Given the description of an element on the screen output the (x, y) to click on. 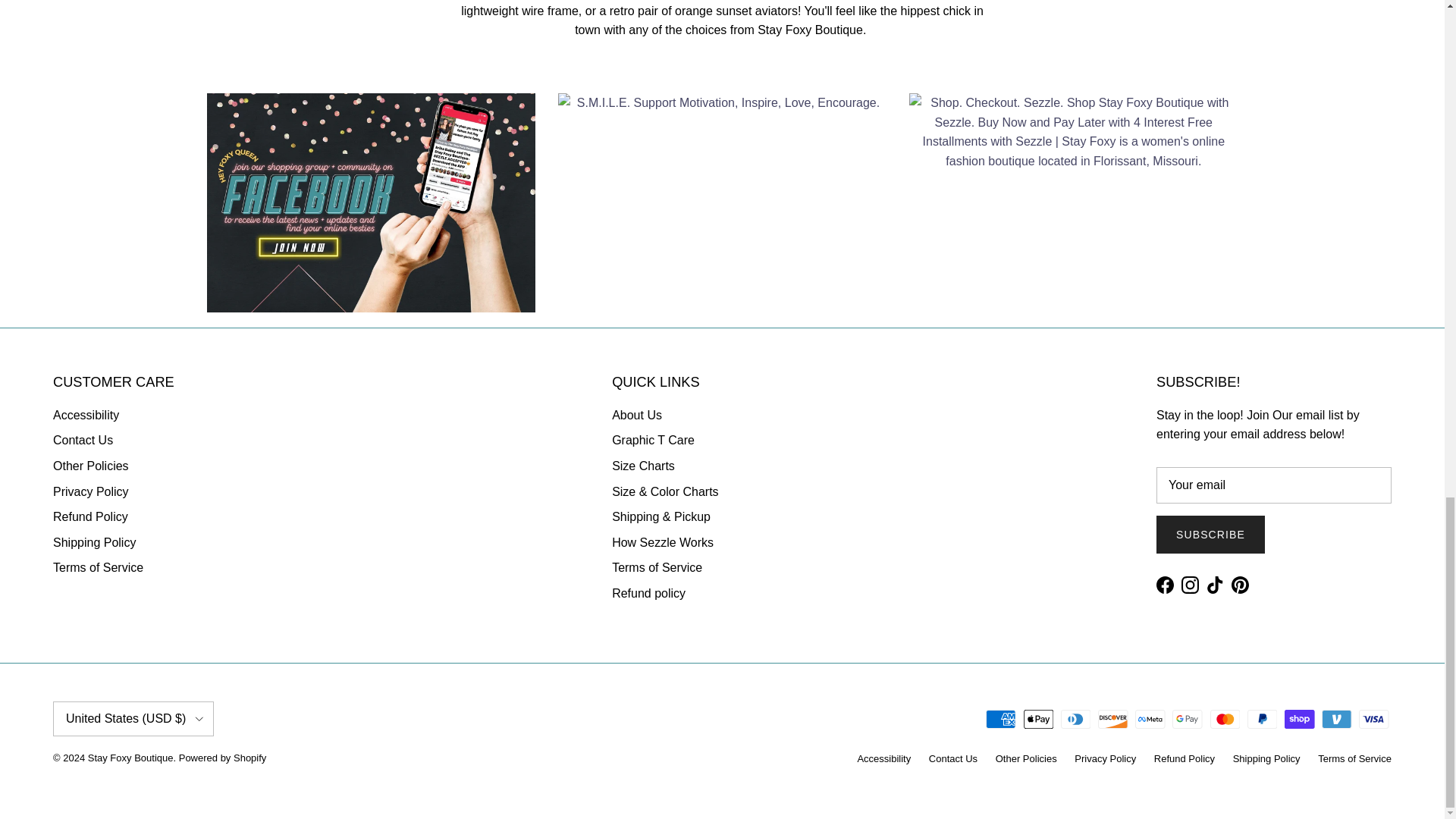
Diners Club (1075, 719)
Google Pay (1187, 719)
Discover (1112, 719)
American Express (1000, 719)
Mastercard (1224, 719)
Stay Foxy Boutique on Instagram (1189, 584)
Apple Pay (1038, 719)
Stay Foxy Boutique on Facebook (1164, 584)
Stay Foxy Boutique on Pinterest (1240, 584)
Stay Foxy Boutique on TikTok (1215, 584)
